Given the description of an element on the screen output the (x, y) to click on. 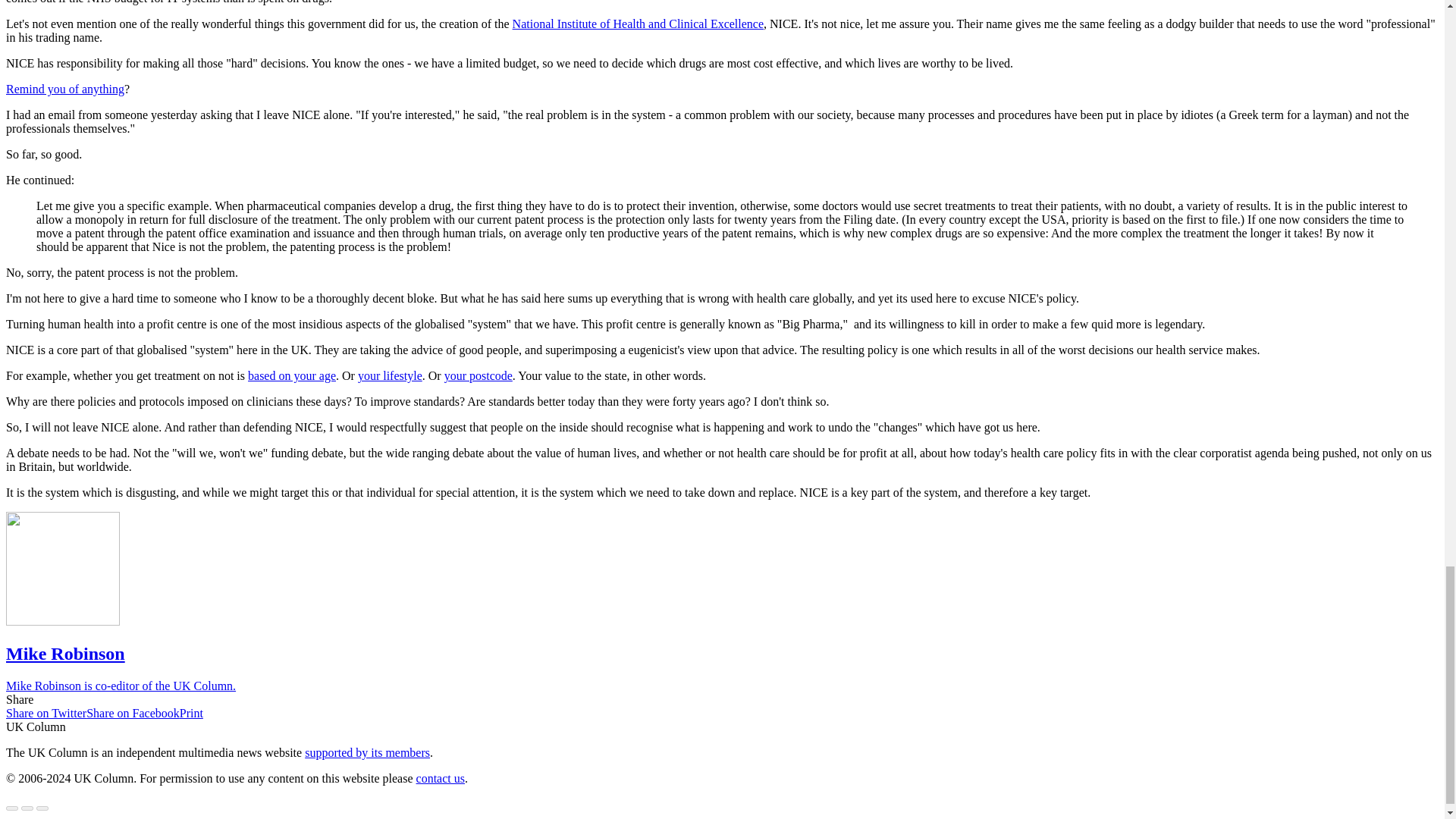
Toggle fullscreen (27, 807)
